Given the description of an element on the screen output the (x, y) to click on. 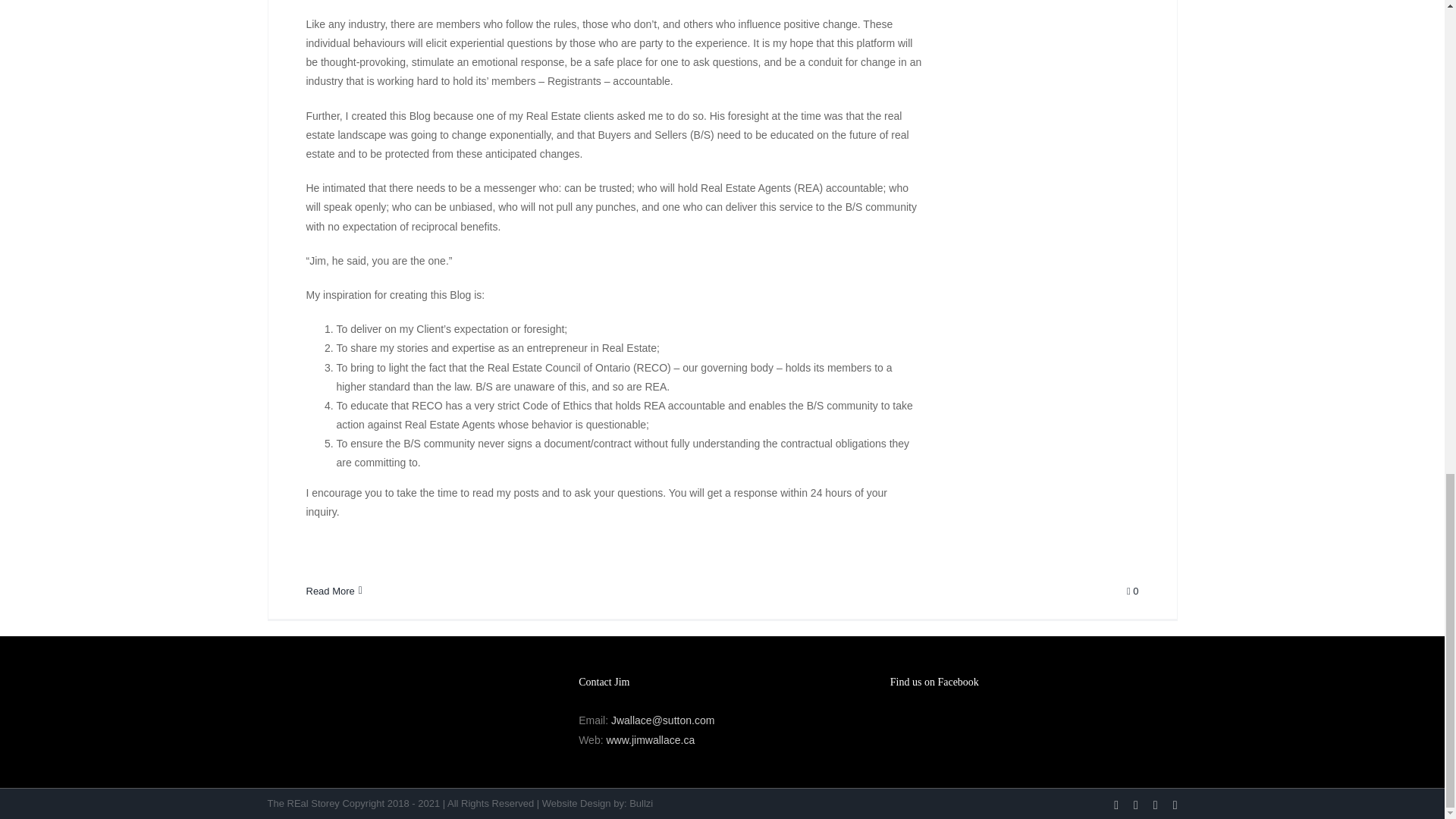
 0 (1132, 591)
www.jimwallace.ca (649, 739)
Read More (330, 591)
